Given the description of an element on the screen output the (x, y) to click on. 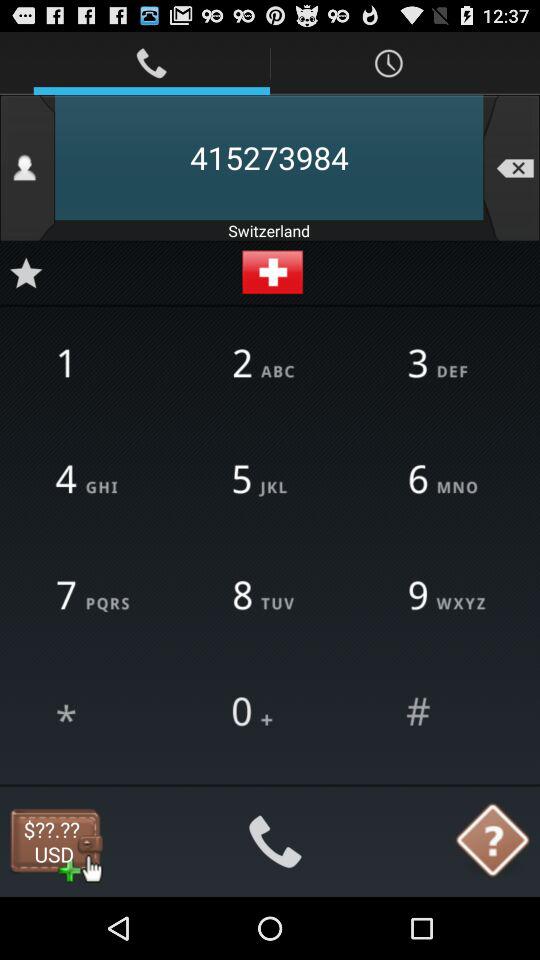
contacts (27, 167)
